Given the description of an element on the screen output the (x, y) to click on. 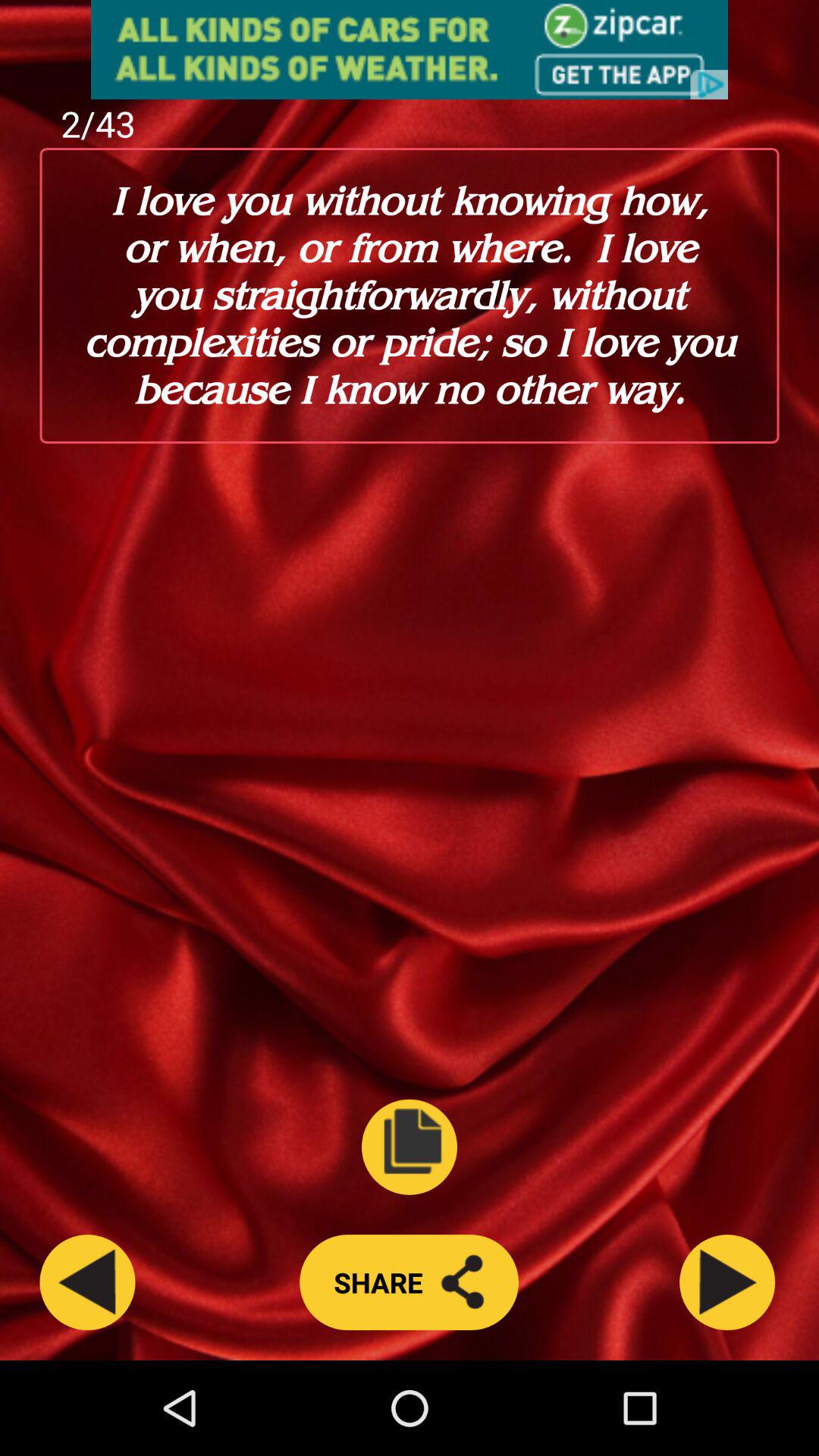
copy the text (409, 1146)
